Given the description of an element on the screen output the (x, y) to click on. 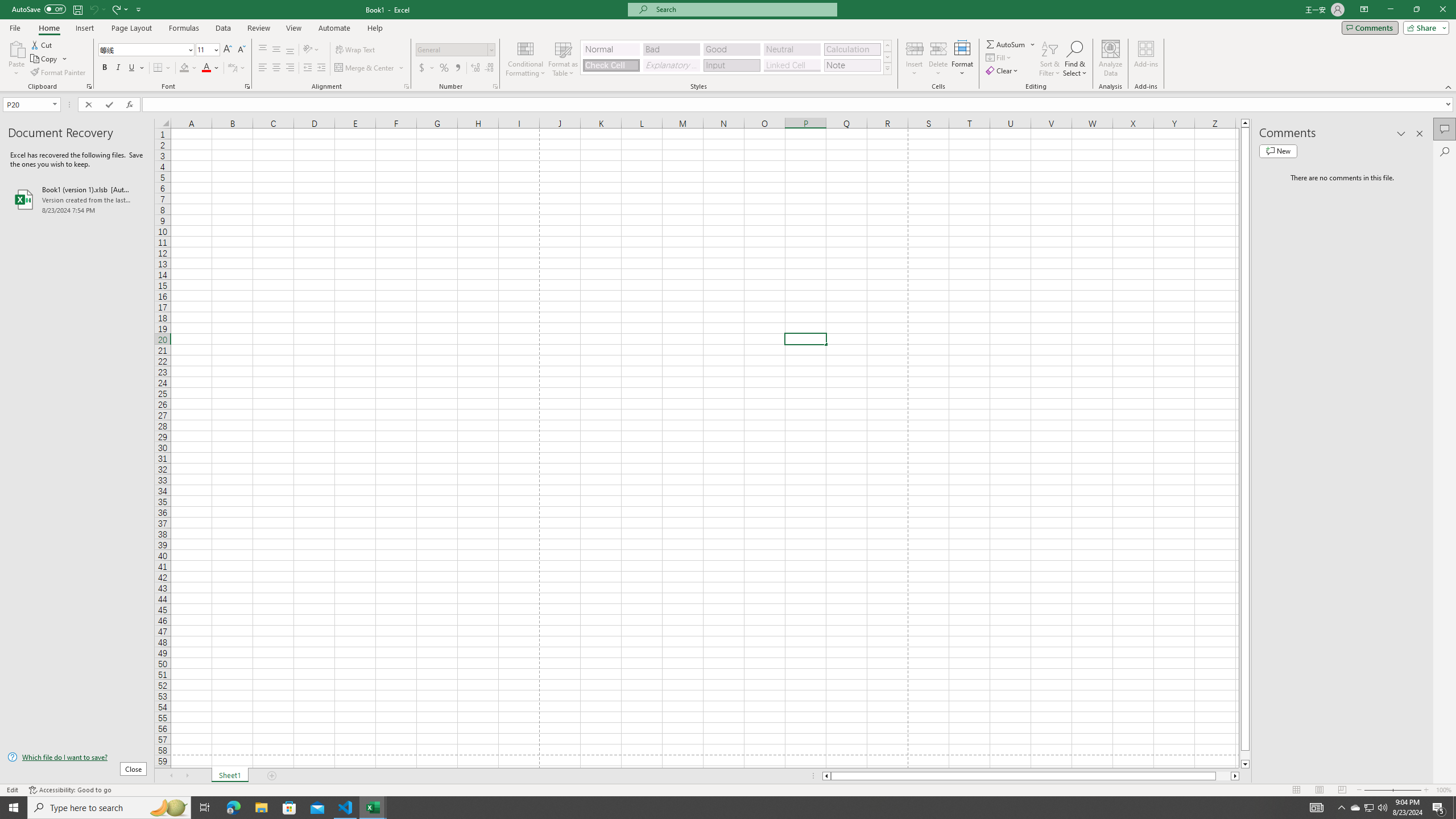
Orientation (311, 49)
View (293, 28)
Delete (938, 58)
Row Down (887, 56)
Quick Access Toolbar (77, 9)
New comment (1278, 151)
AutoSum (1011, 44)
Close (1442, 9)
Show Phonetic Field (231, 67)
Accessibility Checker Accessibility: Good to go (70, 790)
Italic (118, 67)
Line up (1245, 122)
Automate (334, 28)
